Given the description of an element on the screen output the (x, y) to click on. 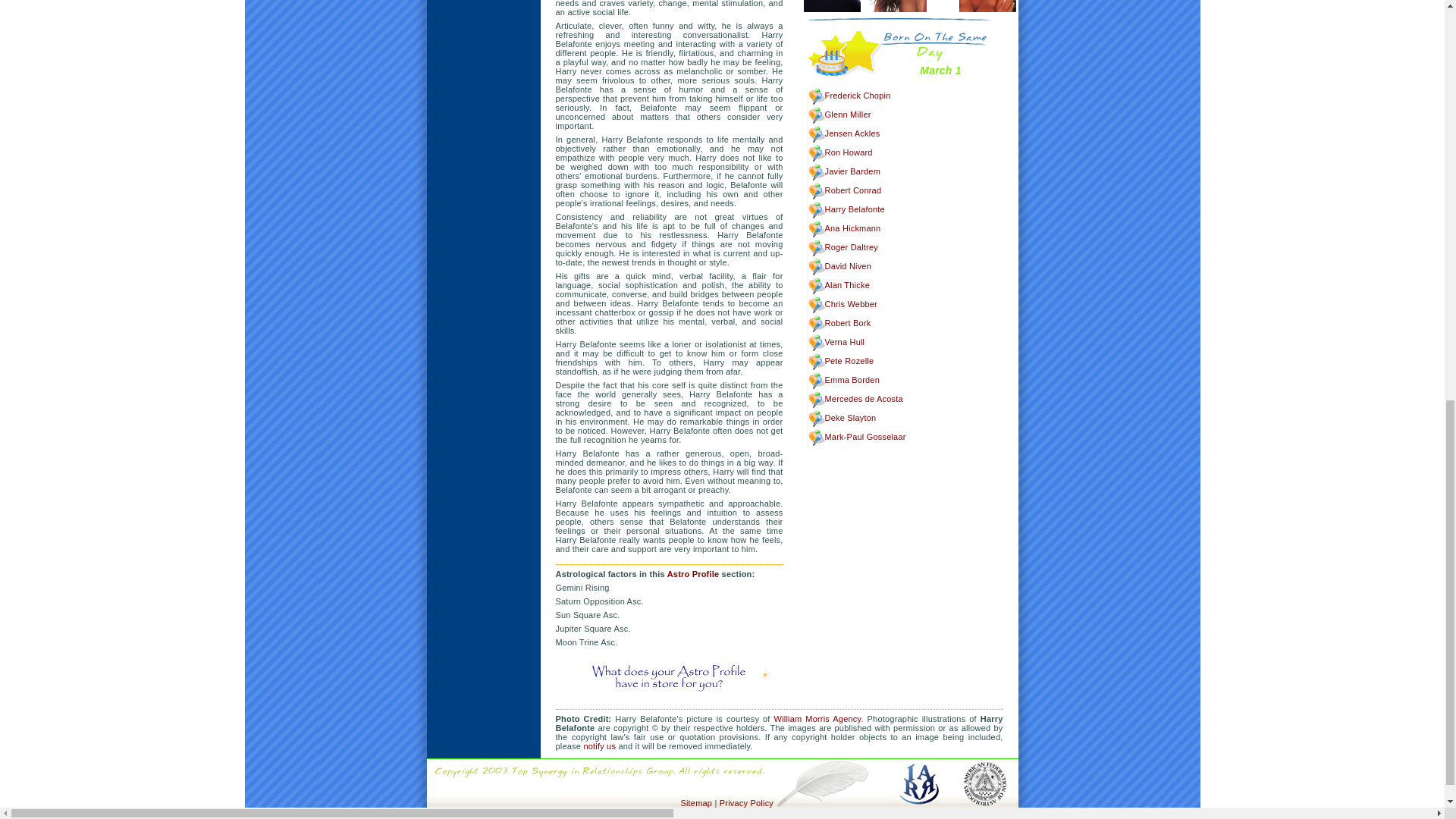
AFA Associate Research Member (984, 762)
Advertisement (483, 23)
